Given the description of an element on the screen output the (x, y) to click on. 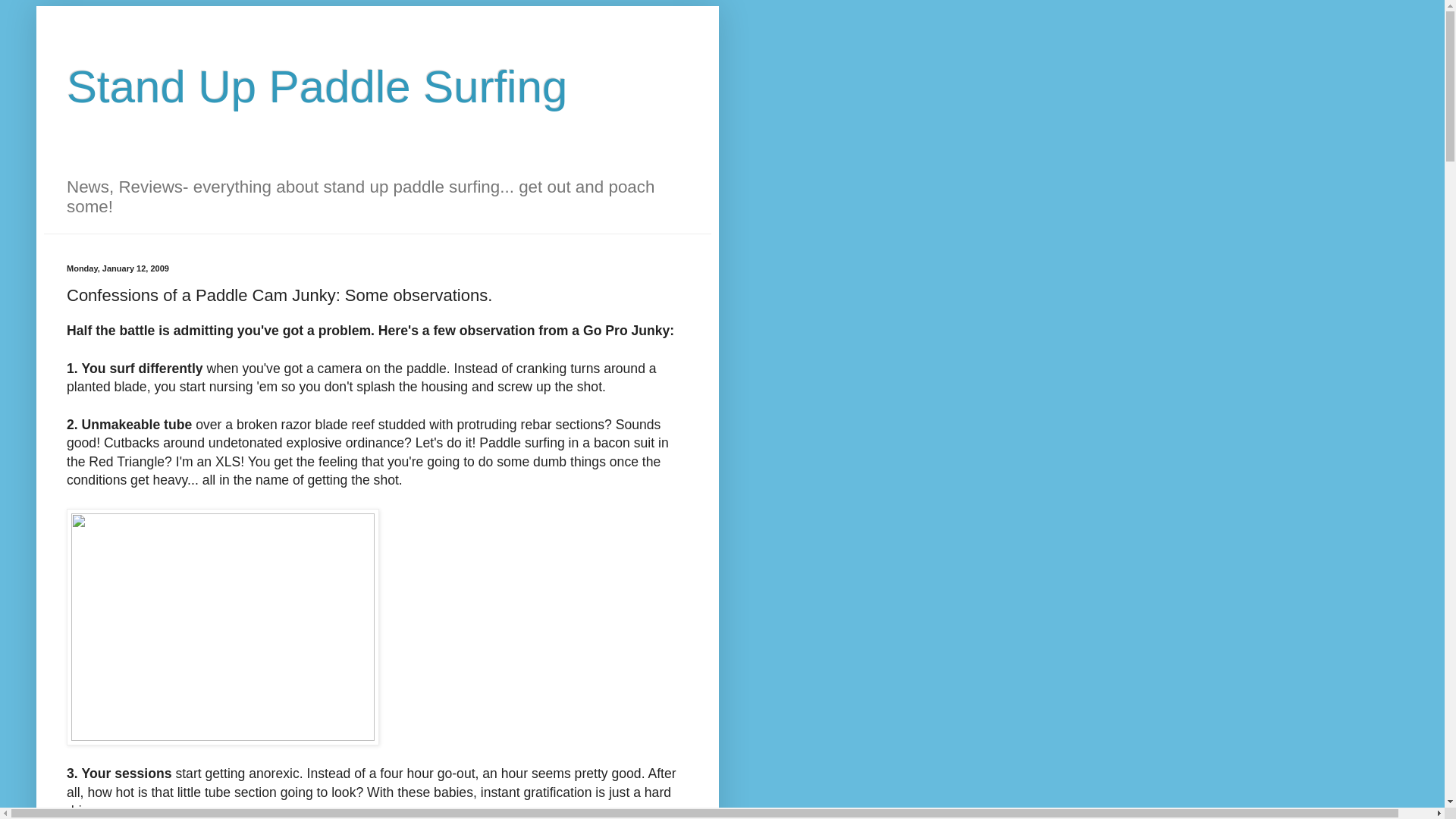
Stand Up Paddle Surfing (316, 86)
